Given the description of an element on the screen output the (x, y) to click on. 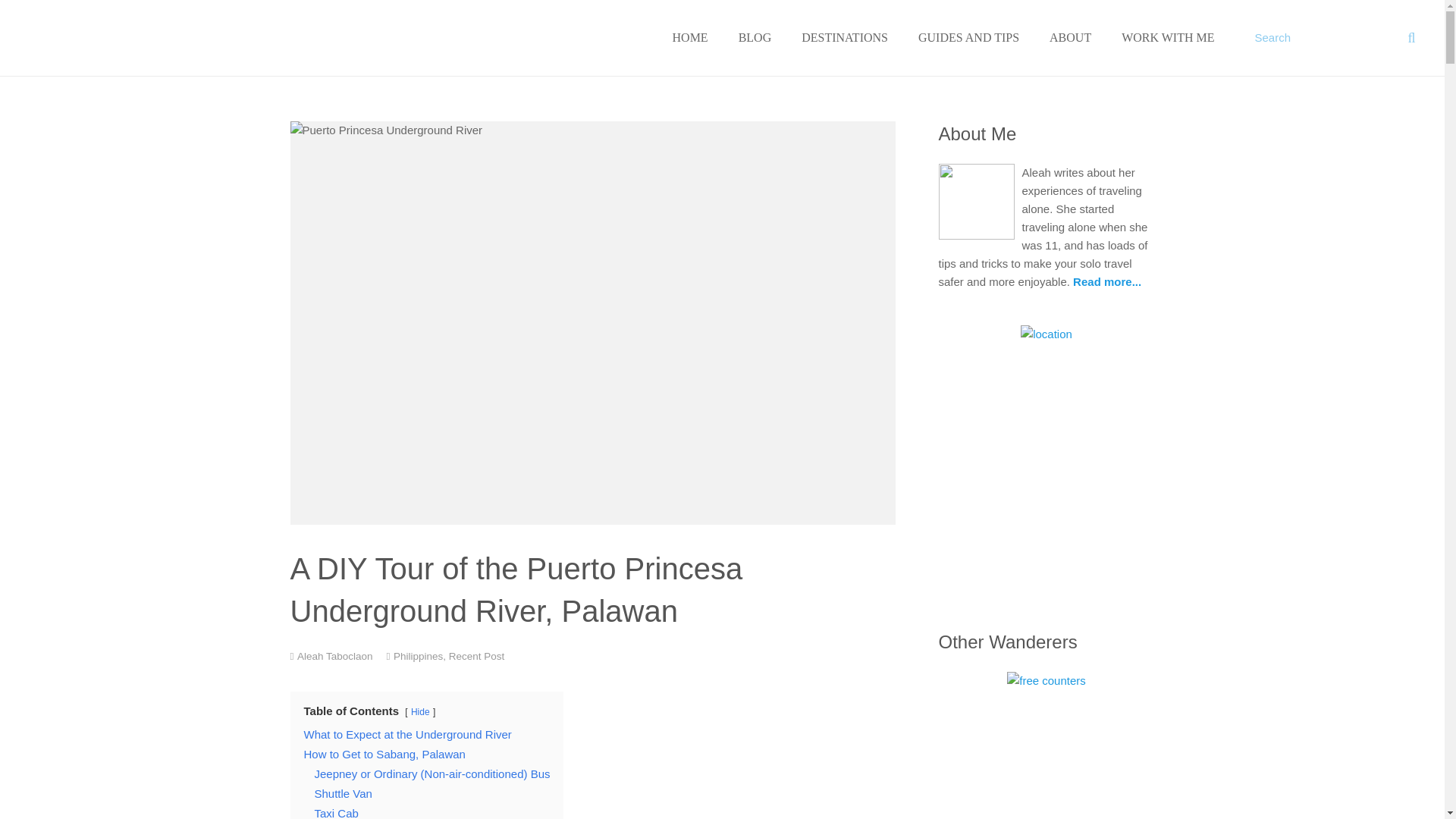
location (1045, 334)
DESTINATIONS (844, 38)
HOME (690, 38)
BLOG (755, 38)
